Given the description of an element on the screen output the (x, y) to click on. 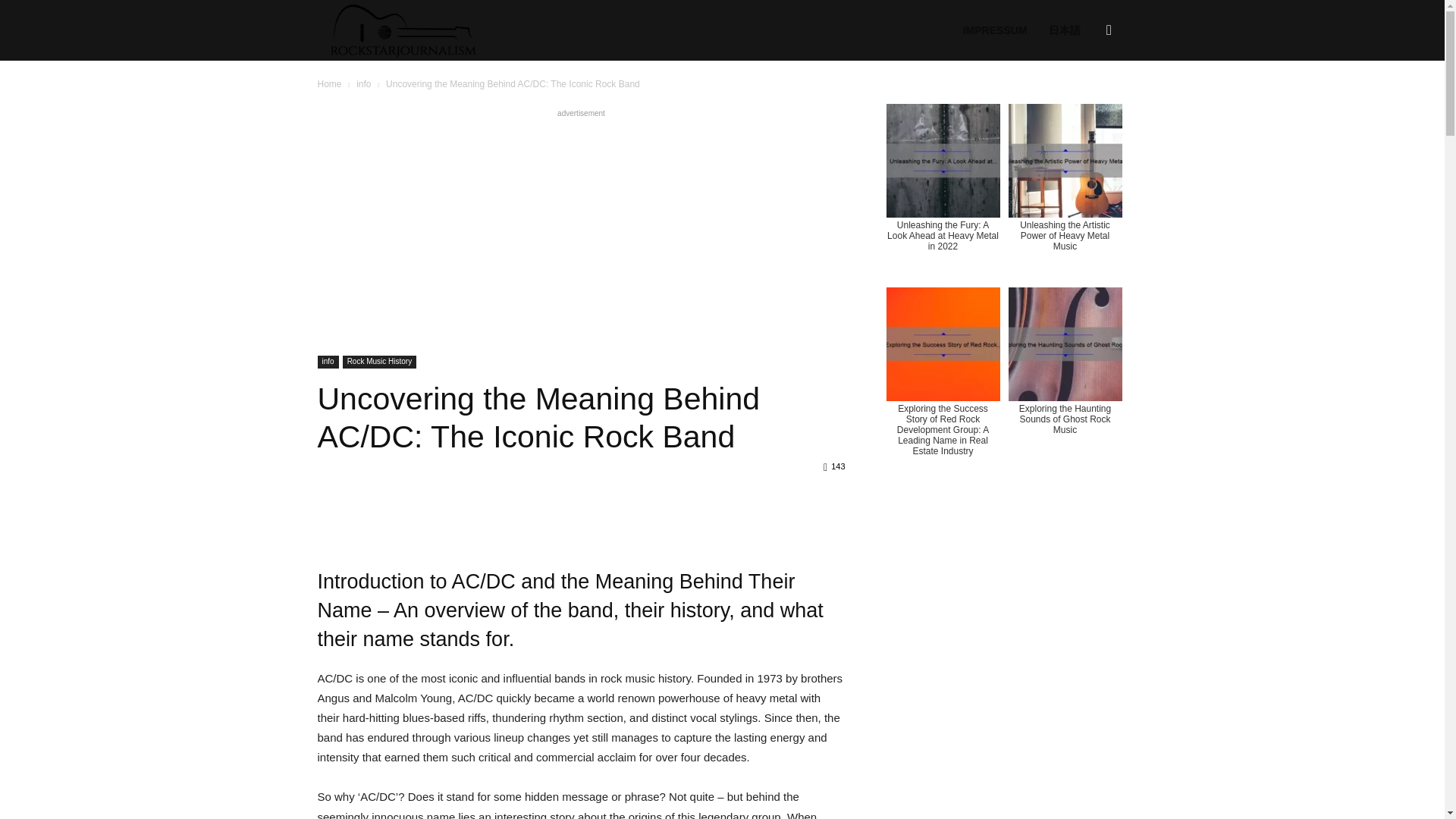
Rock Music History (379, 361)
Search (1085, 102)
info (327, 361)
IMPRESSUM (995, 30)
Home (328, 83)
View all posts in info (363, 83)
info (363, 83)
Rock Star Journalism (401, 30)
